Given the description of an element on the screen output the (x, y) to click on. 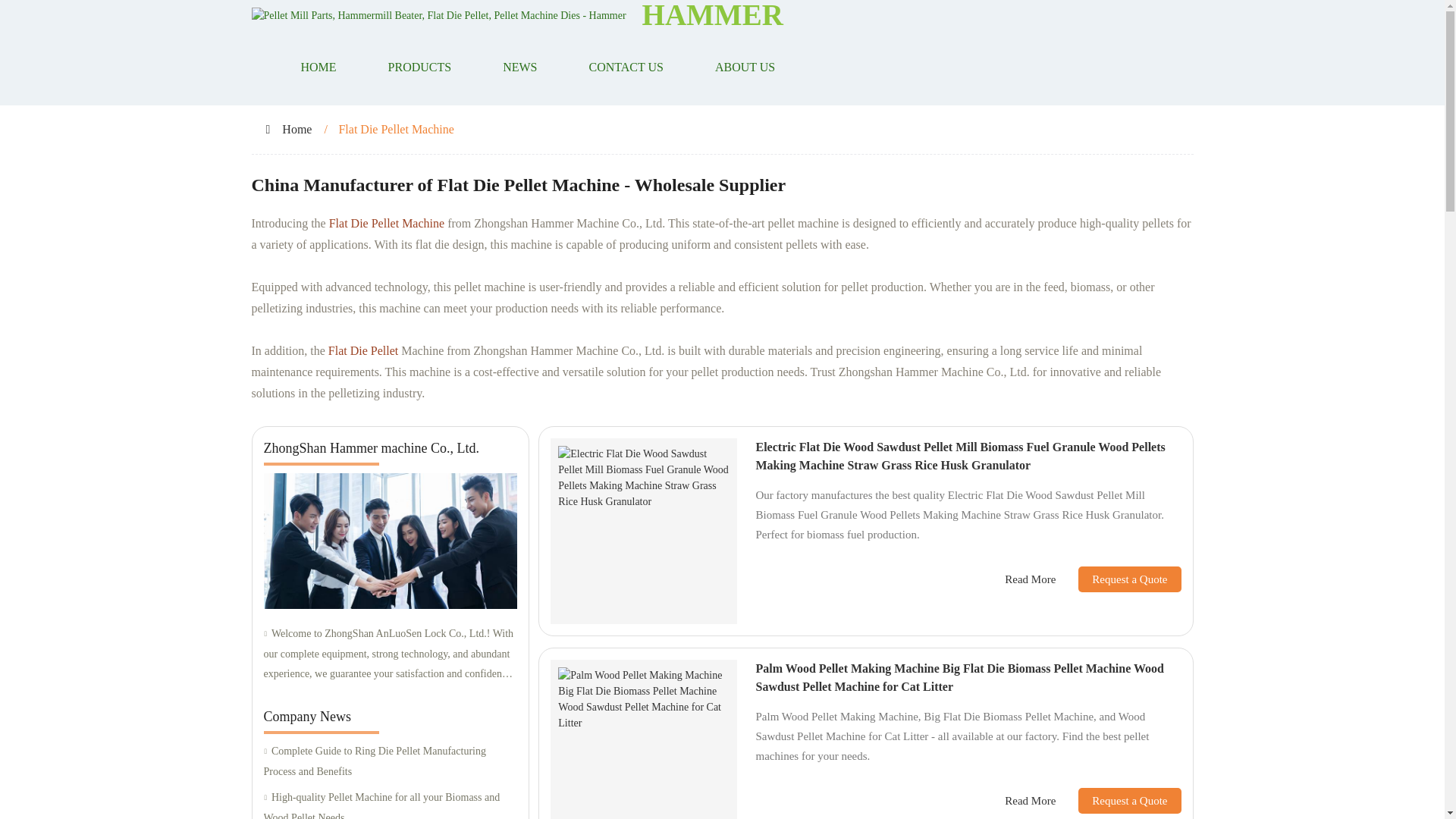
Flat Die Pellet (363, 350)
HAMMER (712, 14)
Home (296, 128)
PRODUCTS (419, 67)
Pellet Machine (407, 223)
Flat Die (348, 223)
